Given the description of an element on the screen output the (x, y) to click on. 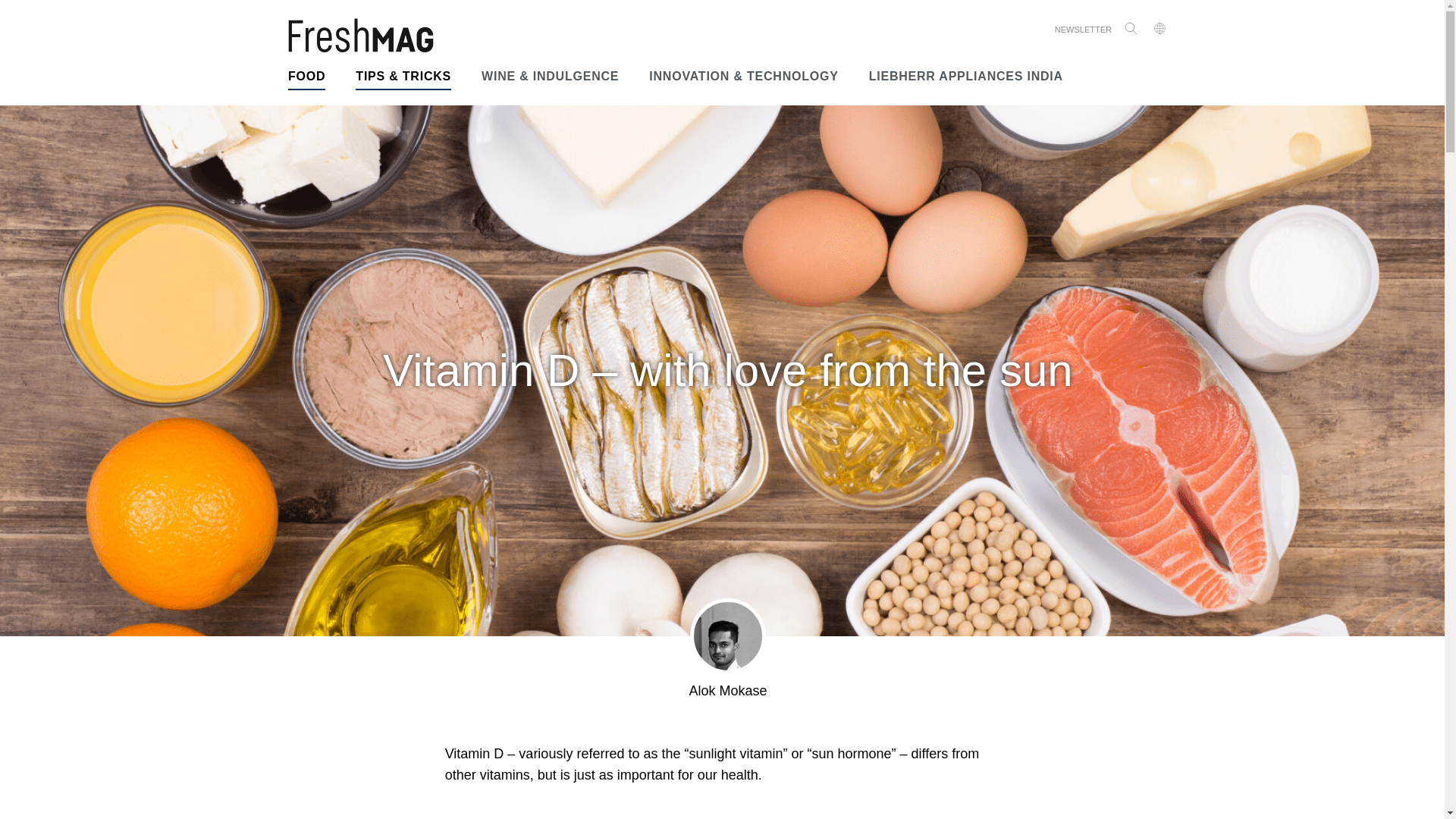
Your Magazine for Freshness and Lifestyle (360, 35)
All posts byAlok Mokase (727, 690)
